Given the description of an element on the screen output the (x, y) to click on. 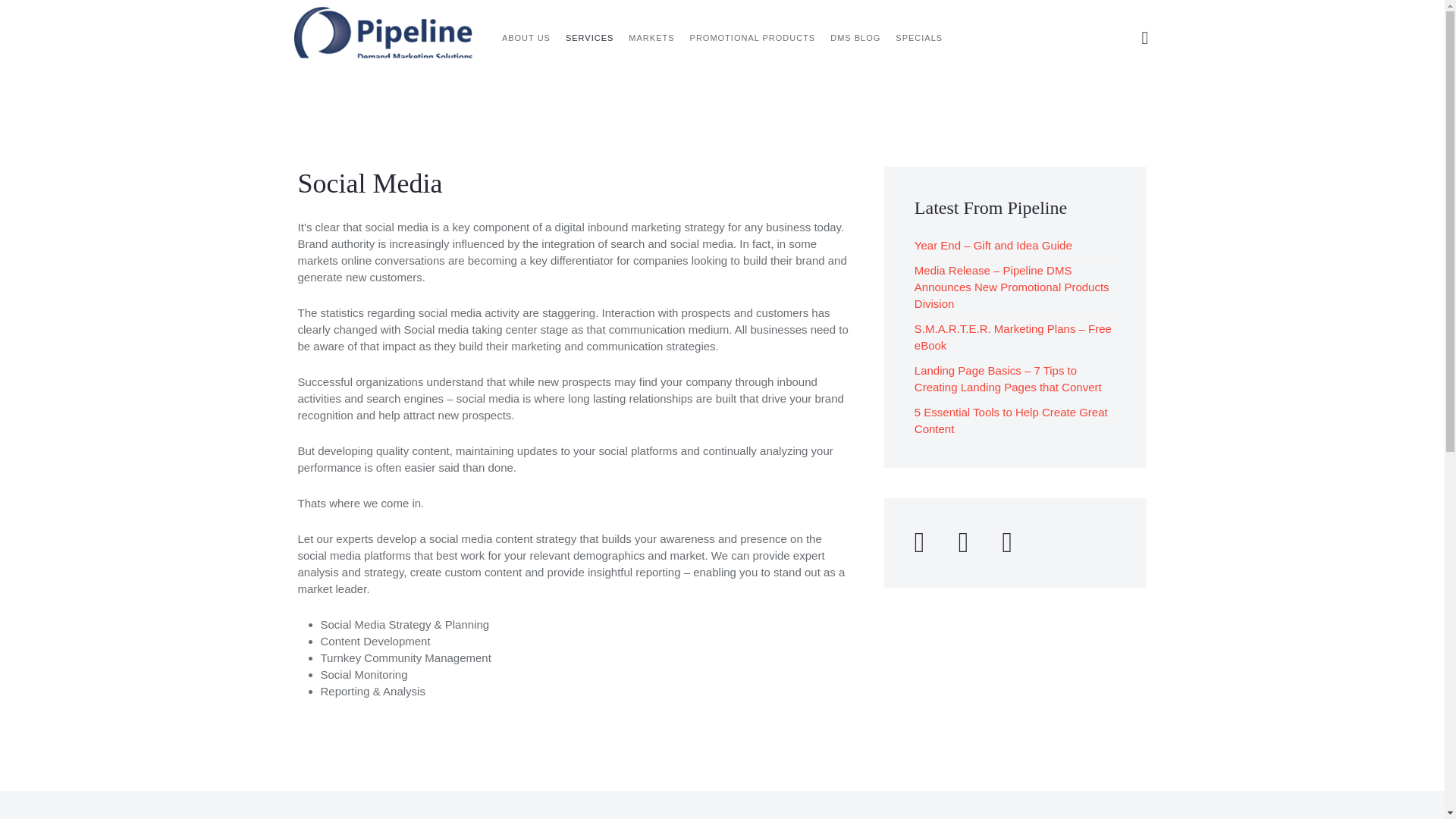
5 Essential Tools to Help Create Great Content (1011, 419)
PROMOTIONAL PRODUCTS (753, 38)
